Given the description of an element on the screen output the (x, y) to click on. 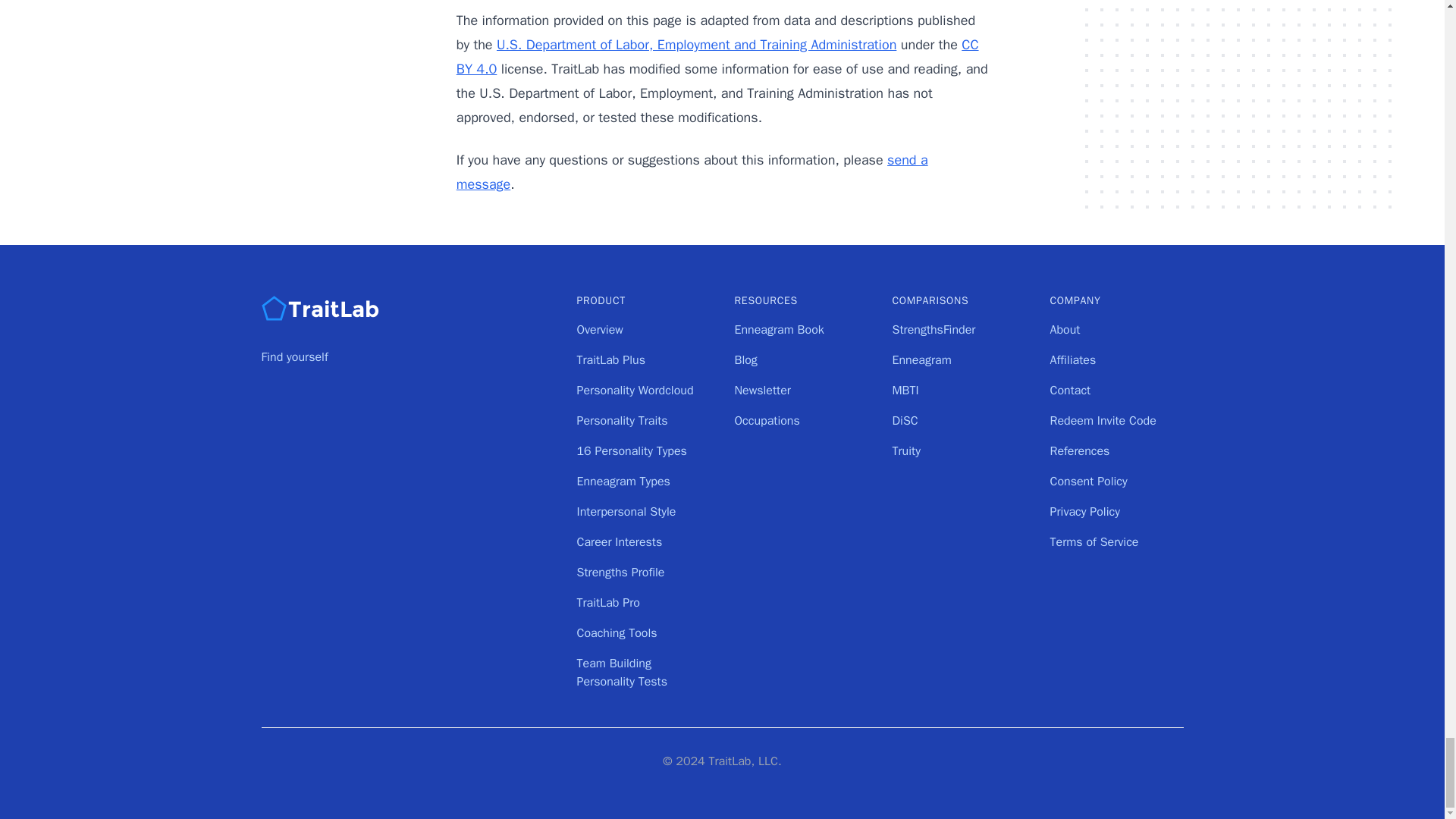
send a message (692, 171)
Interpersonal Style (625, 511)
Overview (599, 329)
Enneagram Types (622, 481)
16 Personality Types (630, 450)
CC BY 4.0 (717, 56)
TraitLab Plus (610, 359)
Personality Traits (621, 420)
Personality Wordcloud (634, 390)
